Given the description of an element on the screen output the (x, y) to click on. 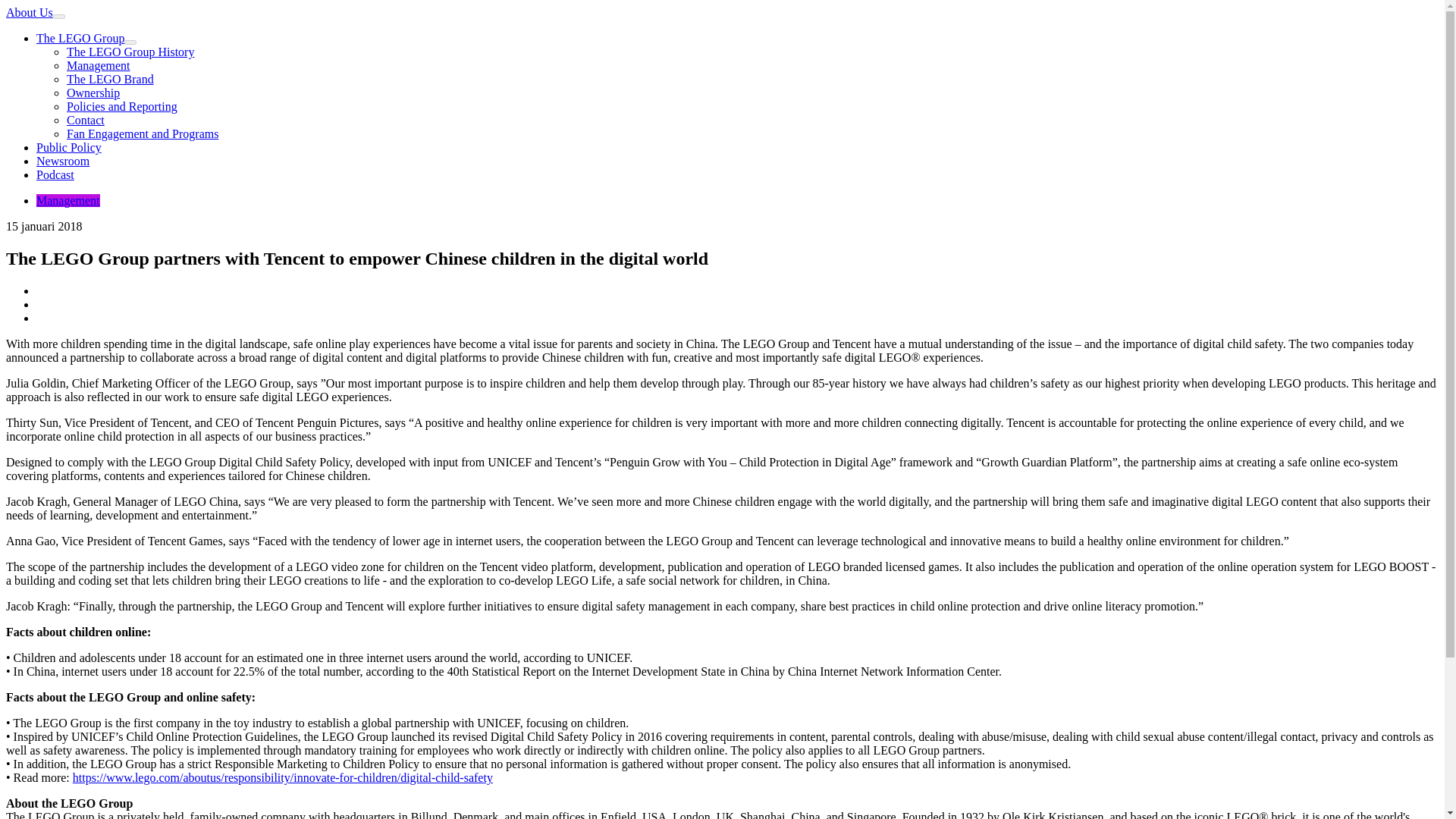
The LEGO Group History (129, 51)
About Us (28, 11)
Podcast (55, 174)
Newsroom (62, 160)
Policies and Reporting (121, 106)
Ownership (92, 92)
Public Policy (68, 146)
The LEGO Group (79, 38)
Contact (85, 119)
Management (68, 200)
Fan Engagement and Programs (142, 133)
Management (98, 65)
The LEGO Brand (110, 78)
